Given the description of an element on the screen output the (x, y) to click on. 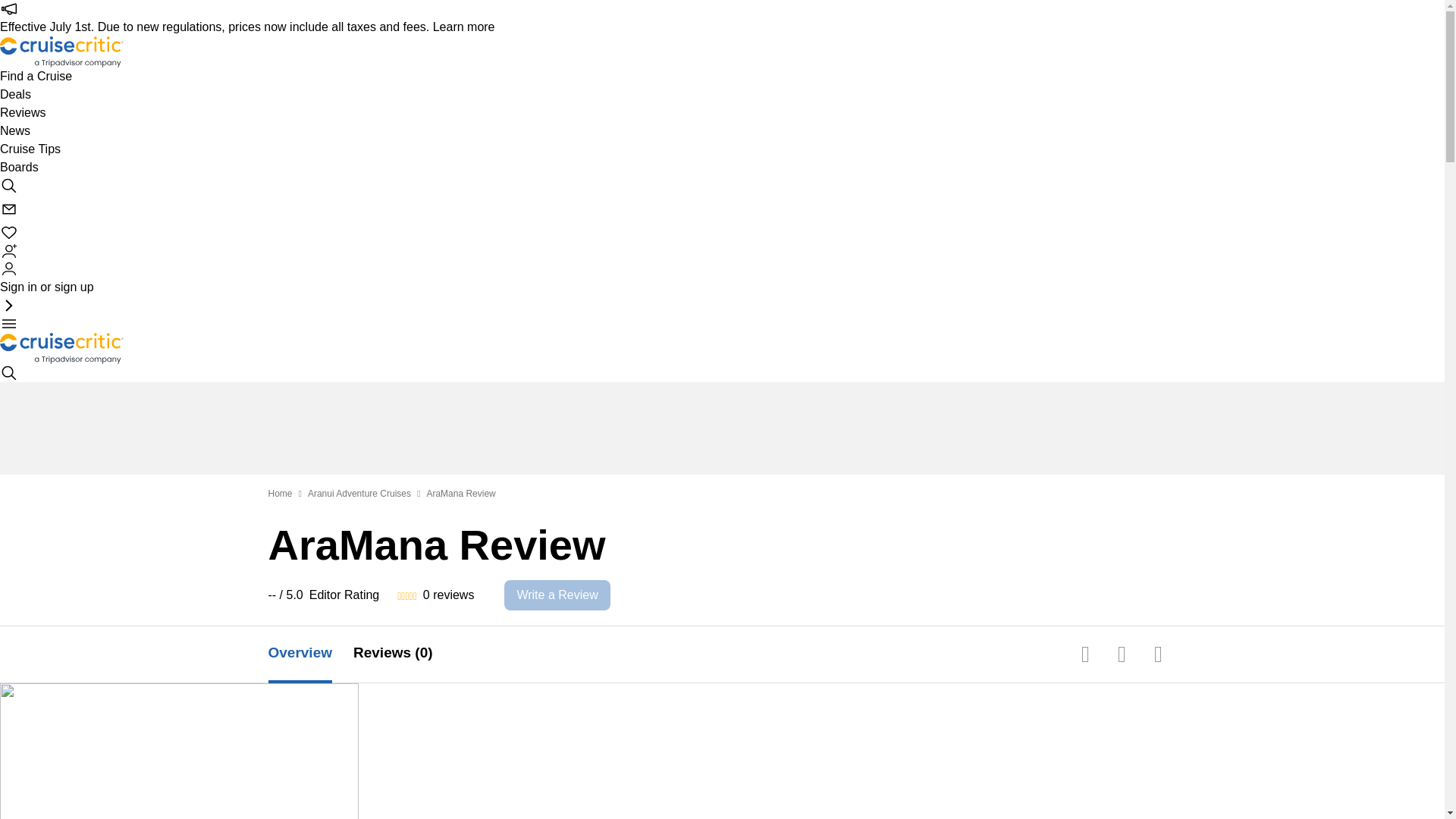
AraMana Review (460, 493)
Find a Cruise (35, 75)
Cruise Tips (30, 149)
Deals (15, 94)
Sign in or sign up (47, 277)
Aranui Adventure Cruises (358, 493)
Learn more (463, 26)
Overview (310, 654)
News (15, 130)
Home (279, 493)
